Given the description of an element on the screen output the (x, y) to click on. 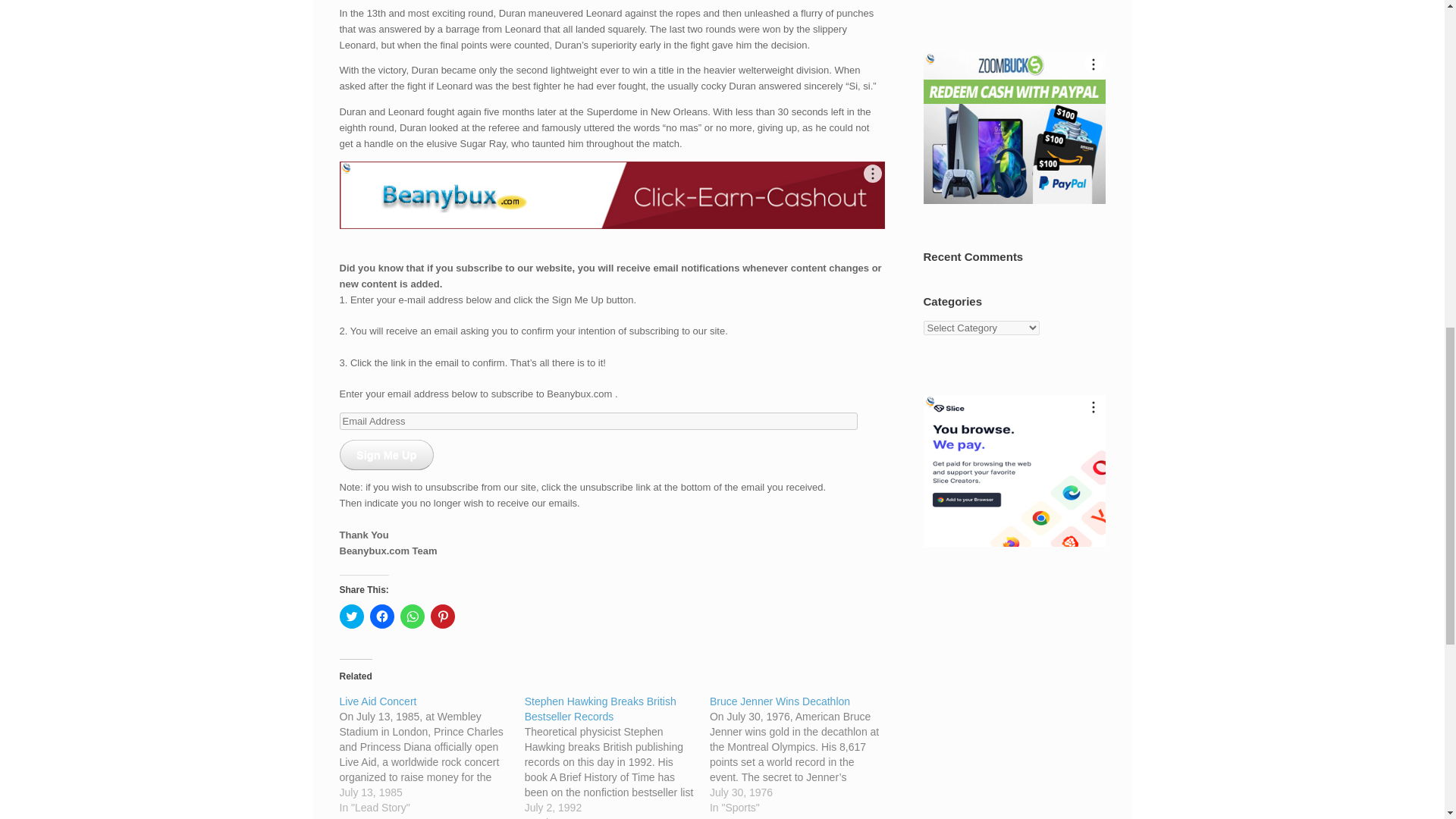
Bruce Jenner Wins Decathlon (802, 753)
Live Aid Concert (377, 701)
Click to share on Facebook (381, 616)
Click to share on Pinterest (442, 616)
Click to share on Twitter (351, 616)
Live Aid Concert (431, 753)
Sign Me Up (386, 454)
Stephen Hawking Breaks British Bestseller Records (600, 708)
Stephen Hawking Breaks British Bestseller Records (617, 756)
Click to share on WhatsApp (412, 616)
